Given the description of an element on the screen output the (x, y) to click on. 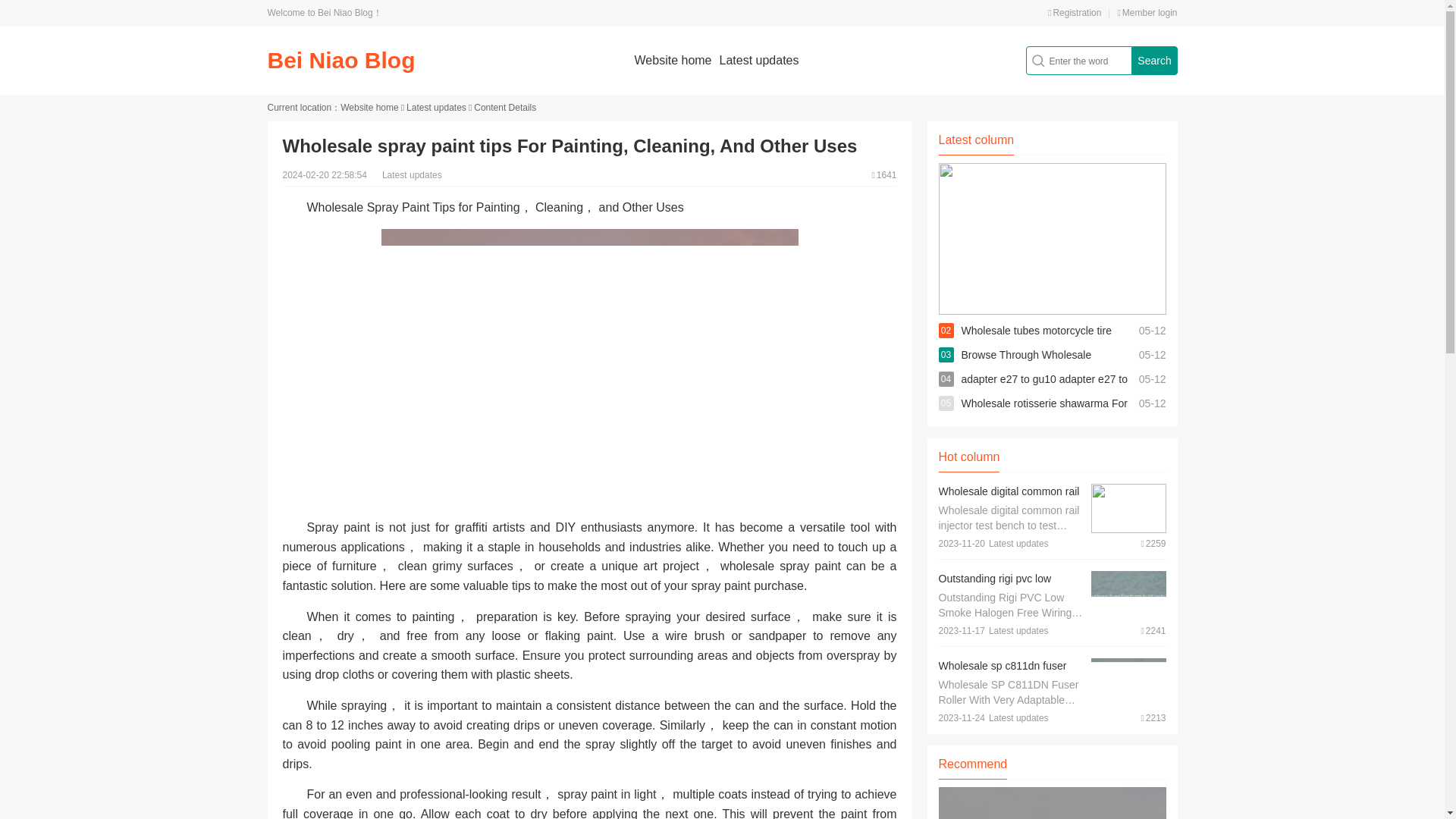
Search (1153, 60)
Browse Through Wholesale shenzhen special local product (1033, 366)
Member login (1146, 12)
Website home (672, 60)
Latest updates (759, 60)
